Given the description of an element on the screen output the (x, y) to click on. 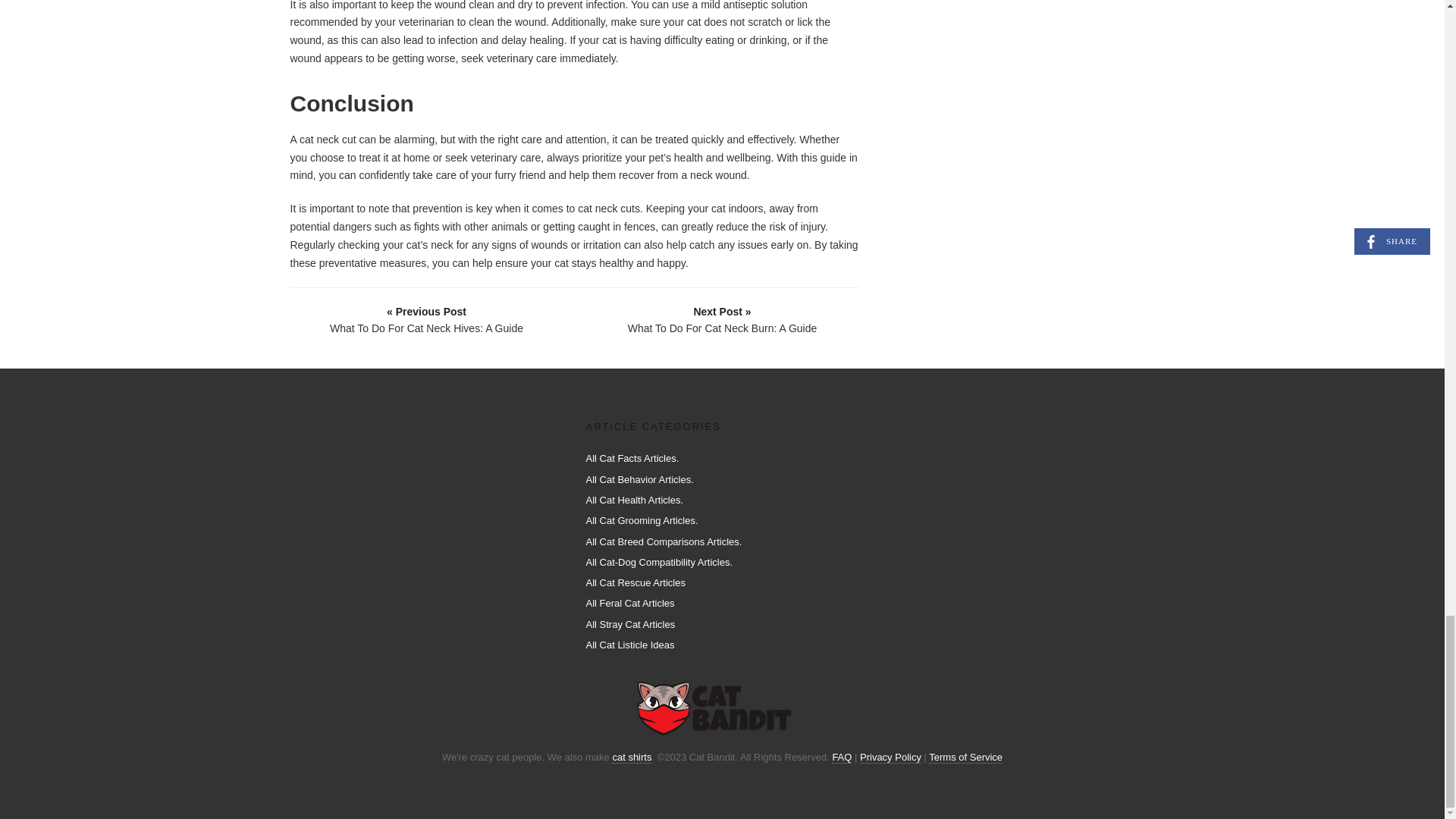
The Cat Bandit Blog (716, 708)
All Stray Cat Articles (630, 624)
All Cat Breed Comparisons Articles. (663, 541)
All Cat Grooming Articles. (641, 520)
What To Do For Cat Neck Hives: A Guide (427, 319)
All Cat Rescue Articles (635, 582)
All Feral Cat Articles (629, 603)
All Cat-Dog Compatibility Articles. (658, 562)
All Cat Health Articles. (633, 500)
What To Do For Cat Neck Burn: A Guide (722, 319)
All Cat Facts Articles. (631, 458)
All Cat Behavior Articles. (639, 479)
